Given the description of an element on the screen output the (x, y) to click on. 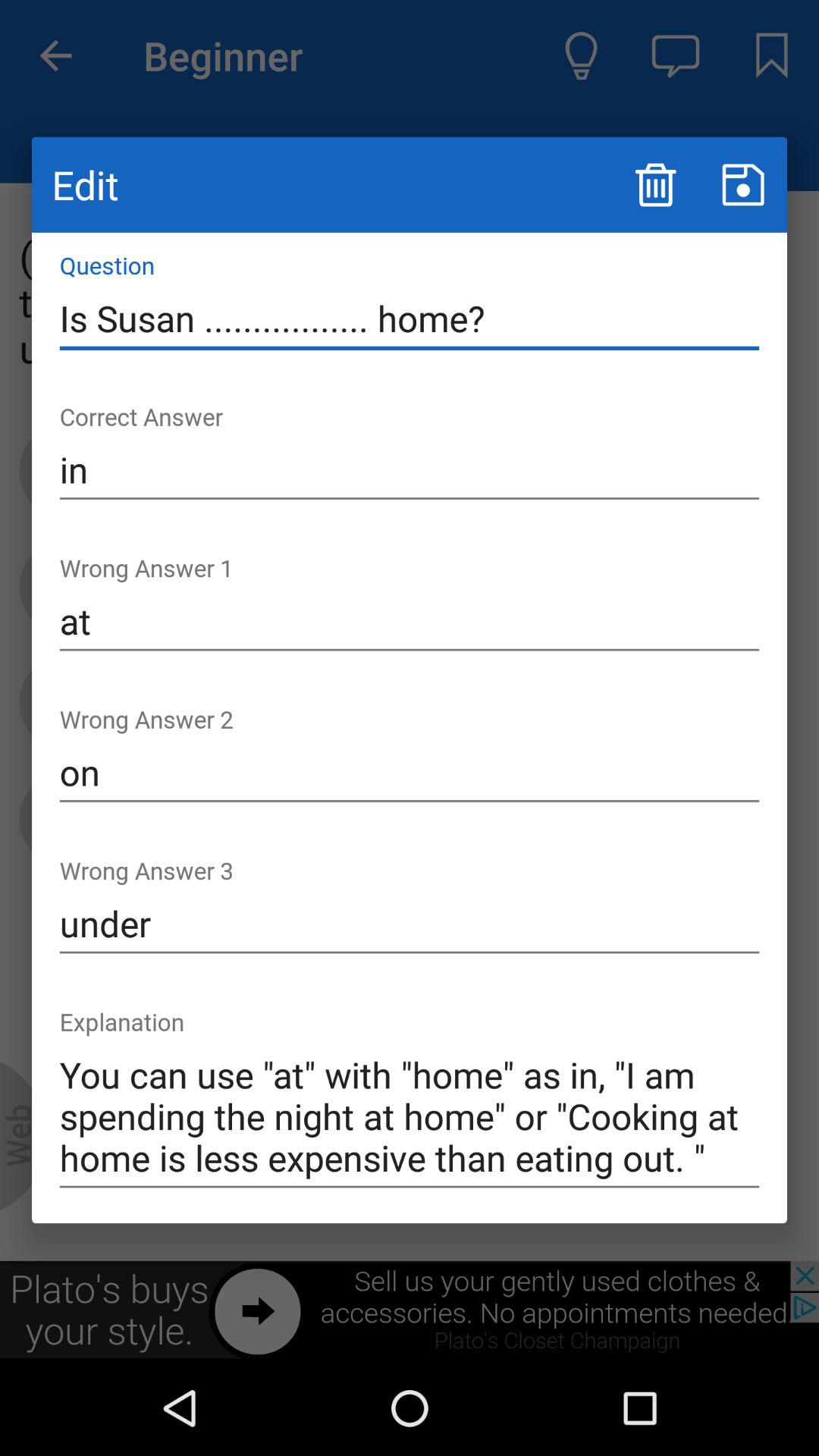
choose the icon at the bottom (409, 1116)
